Given the description of an element on the screen output the (x, y) to click on. 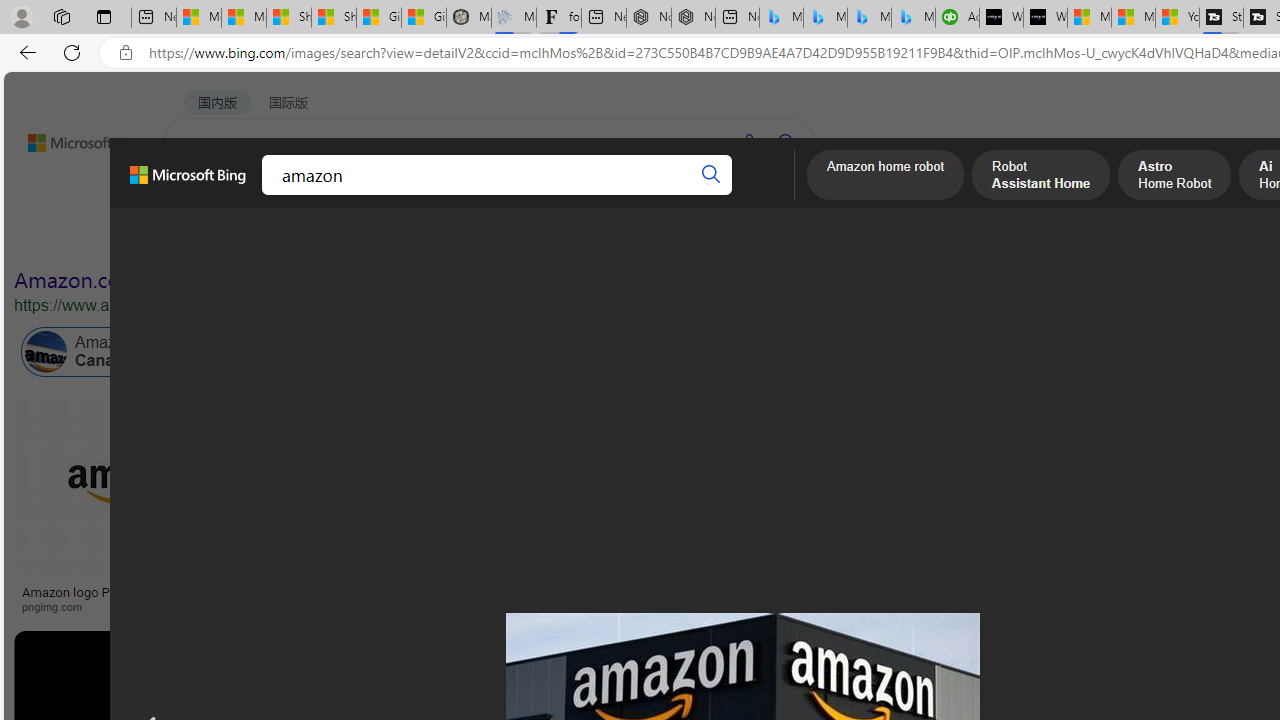
MAPS (698, 195)
WEB (201, 195)
aiophotoz.com (983, 606)
Two Reasons Why Retailers Need to Leverage Amazon (396, 598)
pngimg.com (58, 605)
Date (591, 237)
Amazon Cloud (564, 351)
usatoday.com (710, 606)
Alexa Smart Home Devices (1183, 584)
aiophotoz.com (941, 605)
Kindle Paperwhite Case (1183, 524)
